Given the description of an element on the screen output the (x, y) to click on. 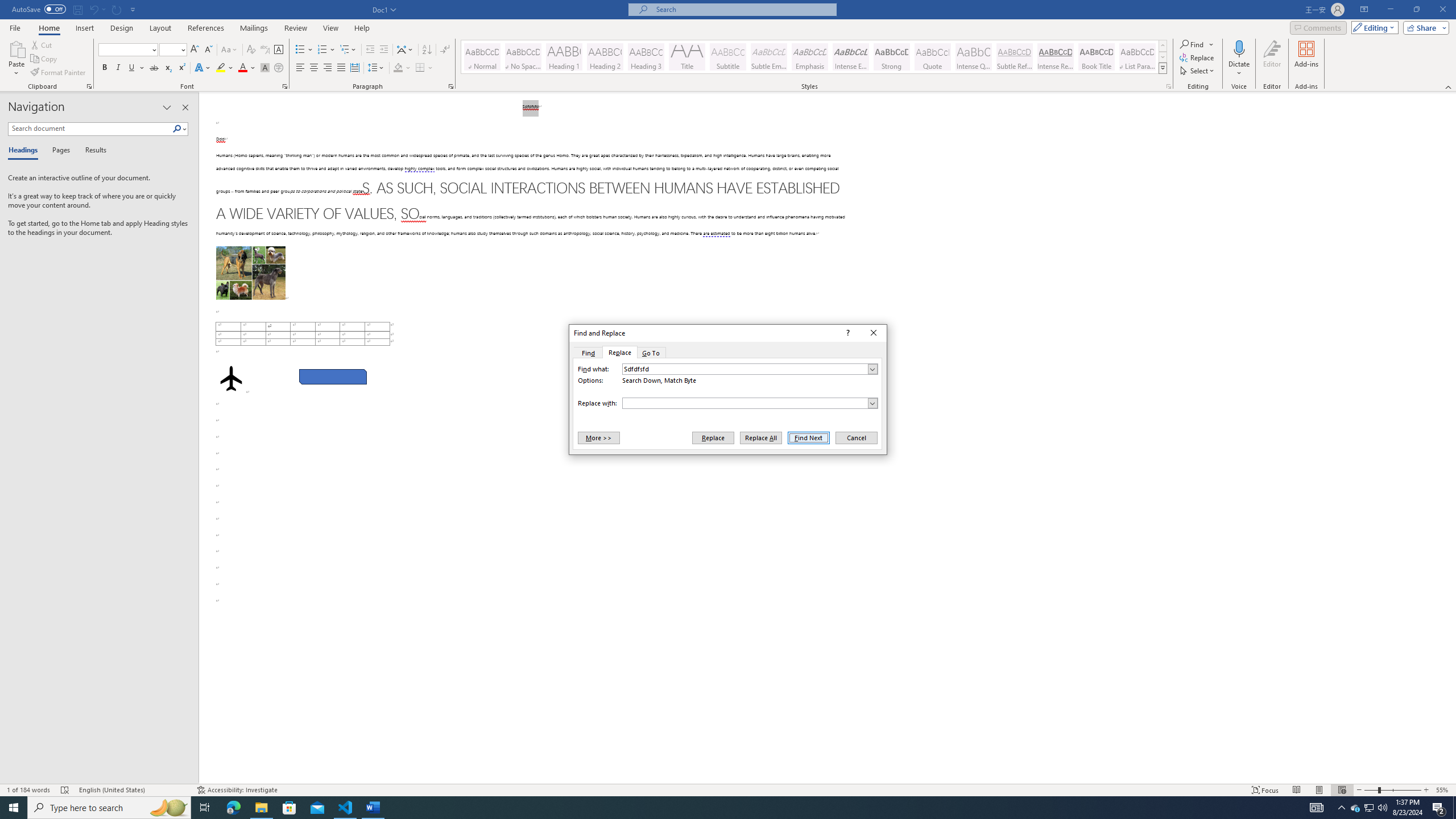
Web Layout (1342, 790)
Replace with: (749, 402)
Design (122, 28)
Grow Font (193, 49)
Undo Paragraph Alignment (92, 9)
Row Down (1162, 56)
Headings (25, 150)
Insert (1368, 807)
Rectangle: Diagonal Corners Snipped 2 (83, 28)
Line and Paragraph Spacing (332, 376)
Multilevel List (376, 67)
Share (347, 49)
Subtle Reference (1423, 27)
Replace All (1014, 56)
